Given the description of an element on the screen output the (x, y) to click on. 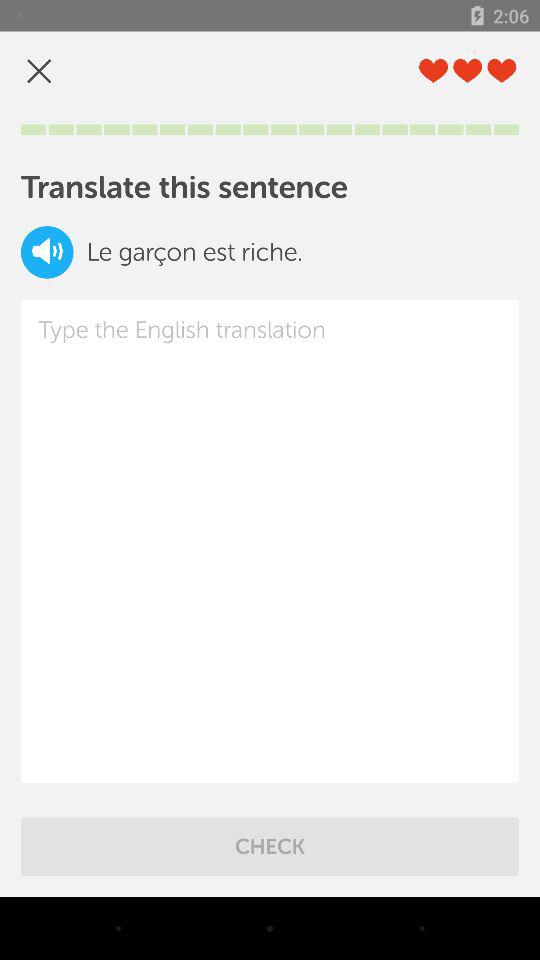
open check item (270, 846)
